Given the description of an element on the screen output the (x, y) to click on. 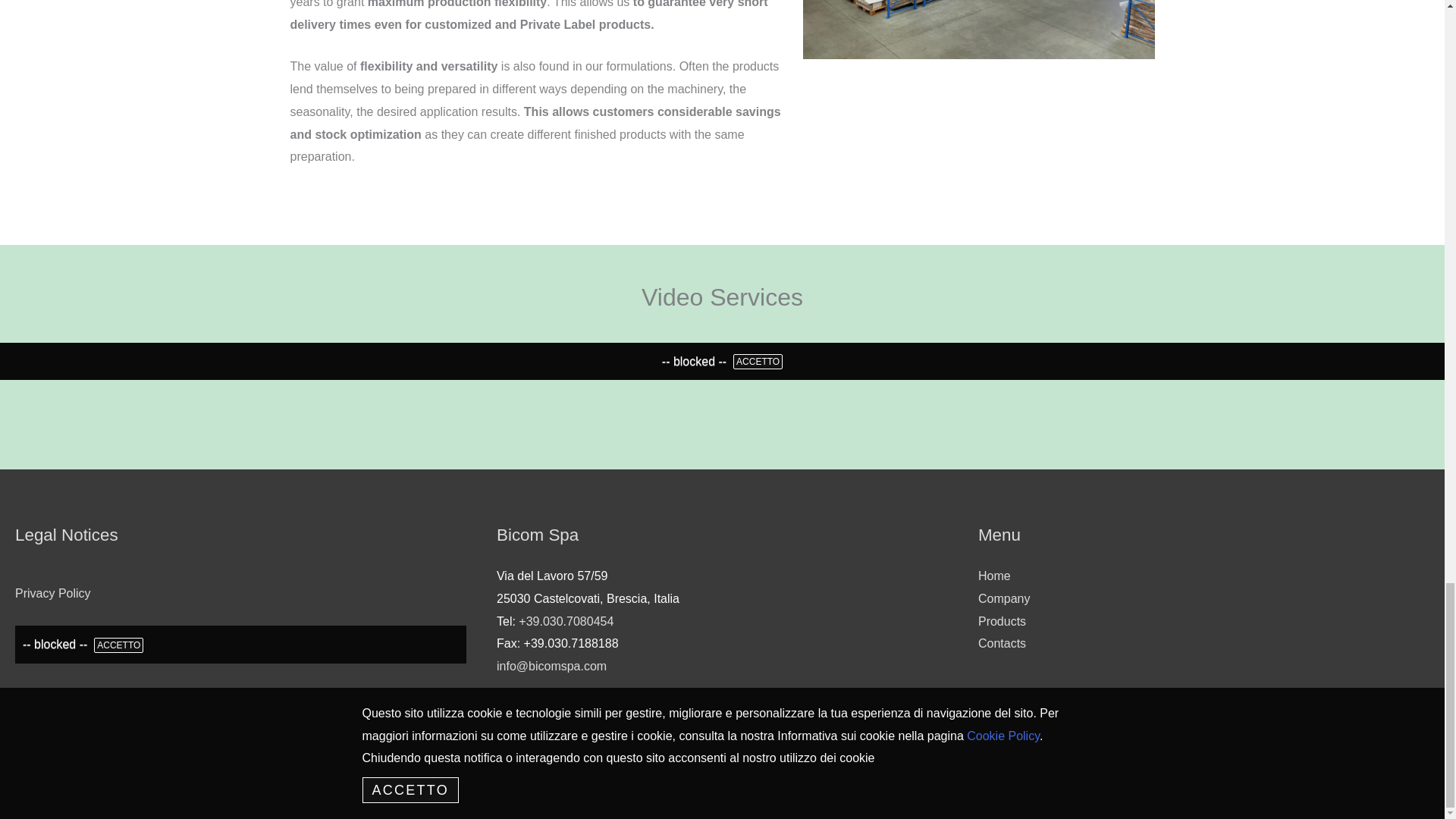
CONTATTACI (551, 666)
Privacy Policy  (52, 593)
CHIAMA (565, 621)
